Given the description of an element on the screen output the (x, y) to click on. 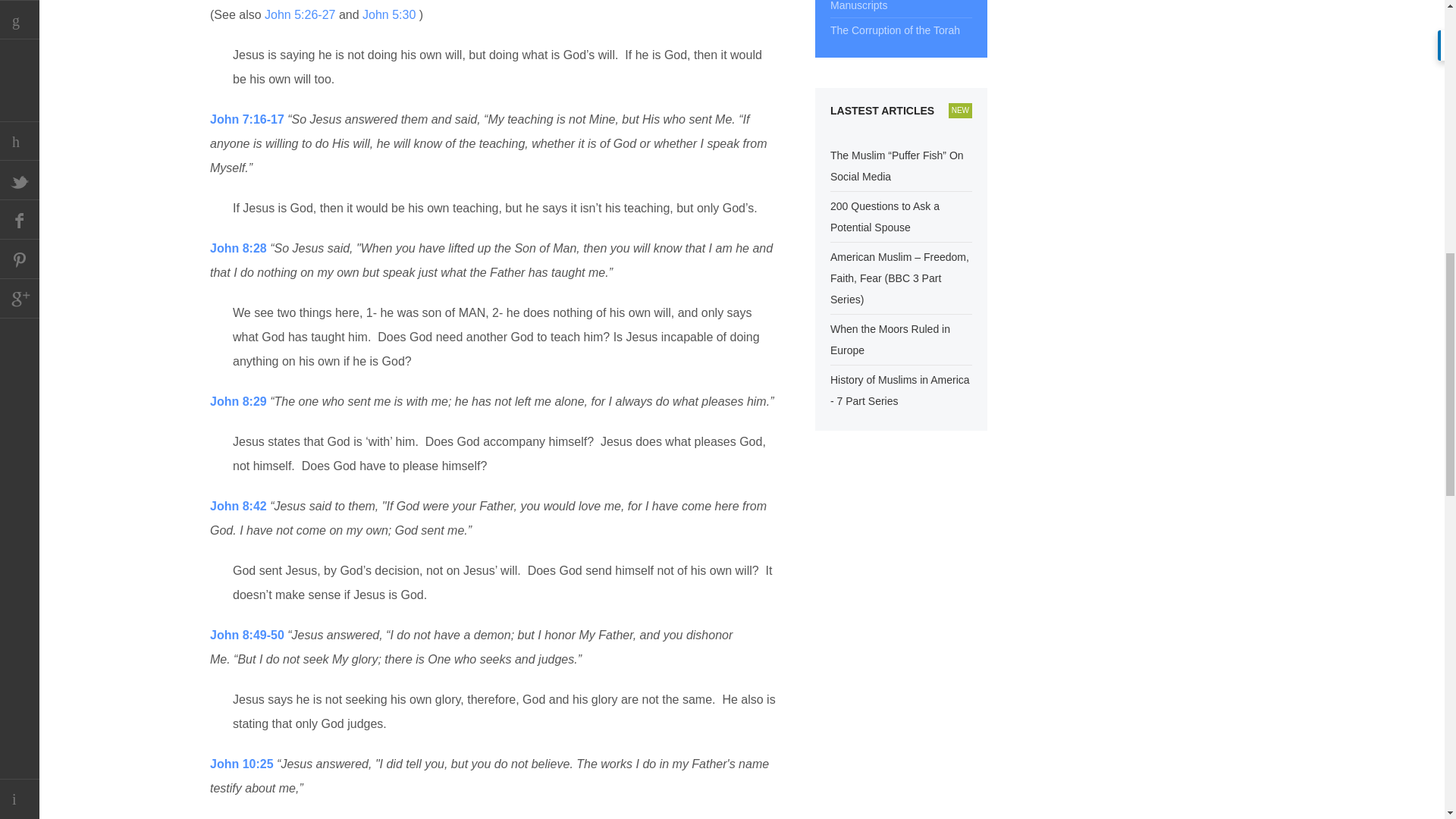
John 5:26-27 (301, 14)
John 8:28 (239, 247)
John 7:16-17 (247, 119)
John 8:29 (239, 400)
John 8:42 (239, 505)
John 10:25 (242, 763)
John 5:30 (390, 14)
John 8:49-50 (247, 634)
